Given the description of an element on the screen output the (x, y) to click on. 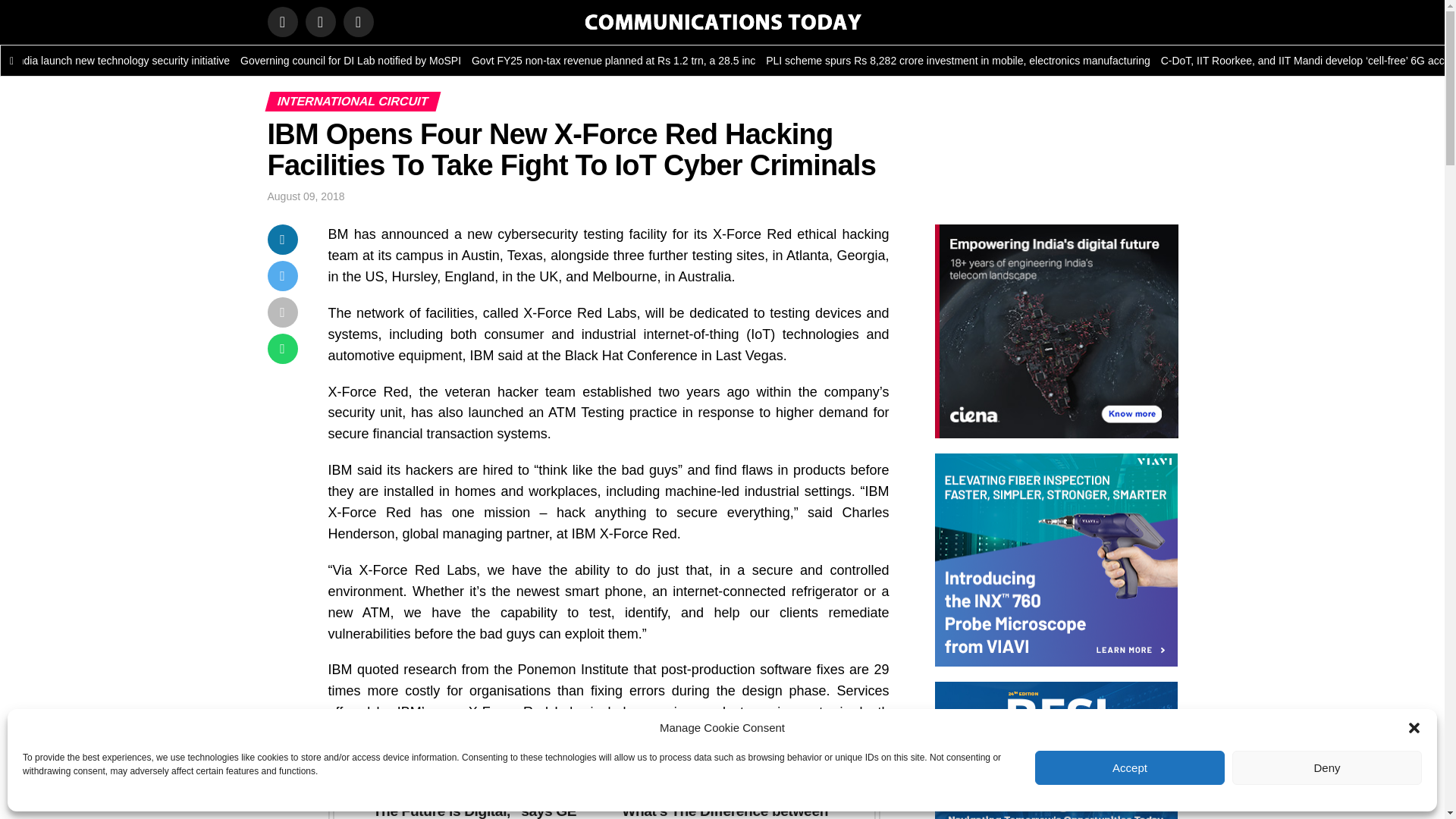
UK and India launch new technology security initiative (274, 60)
Governing council for DI Lab notified by MoSPI (518, 60)
Govt FY25 non-tax revenue planned at Rs 1.2 trn, a 28.5 inc (778, 60)
Why imported phones may become cheaper after Union Budget (69, 60)
